Given the description of an element on the screen output the (x, y) to click on. 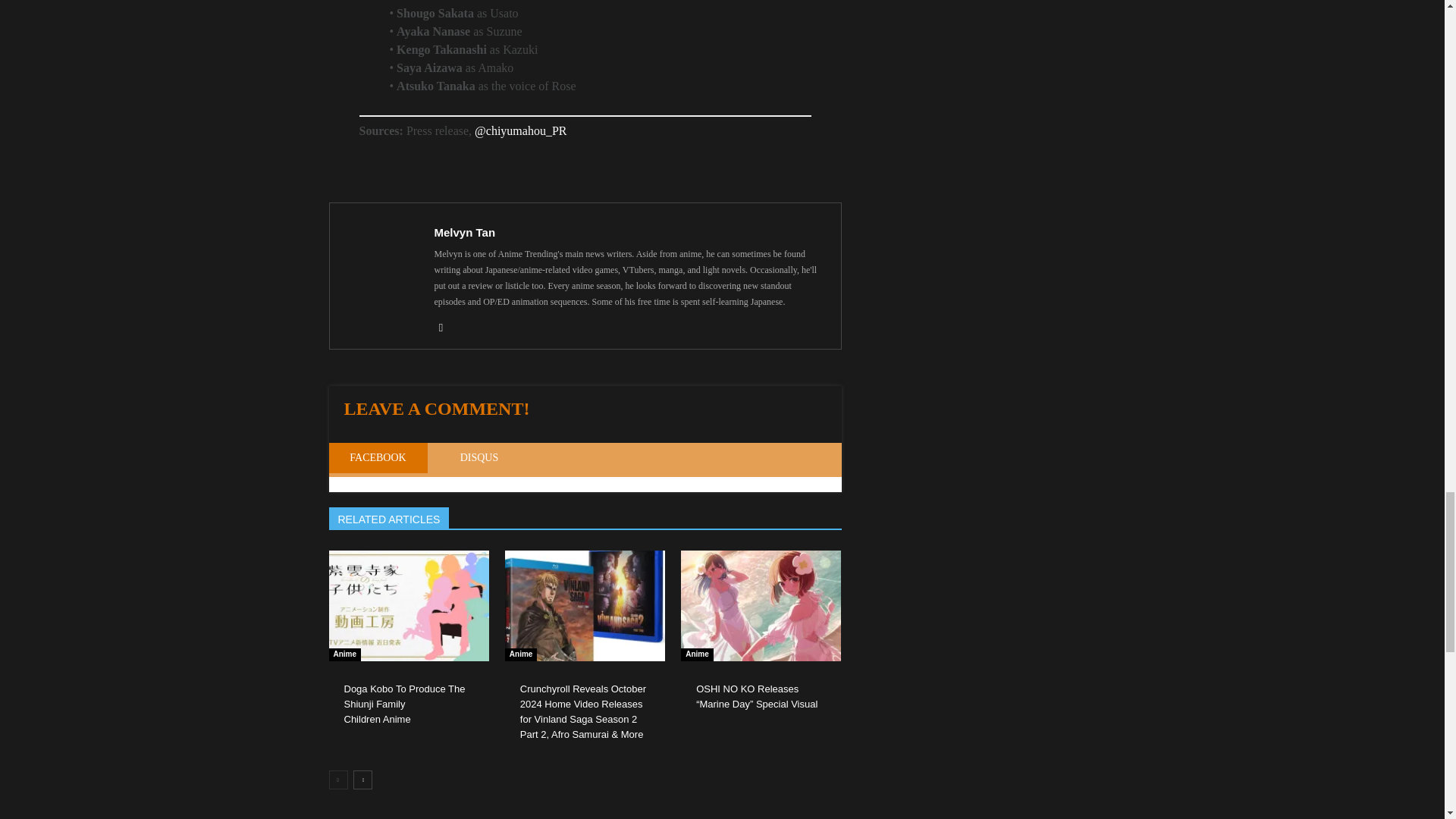
Mail (445, 327)
